Given the description of an element on the screen output the (x, y) to click on. 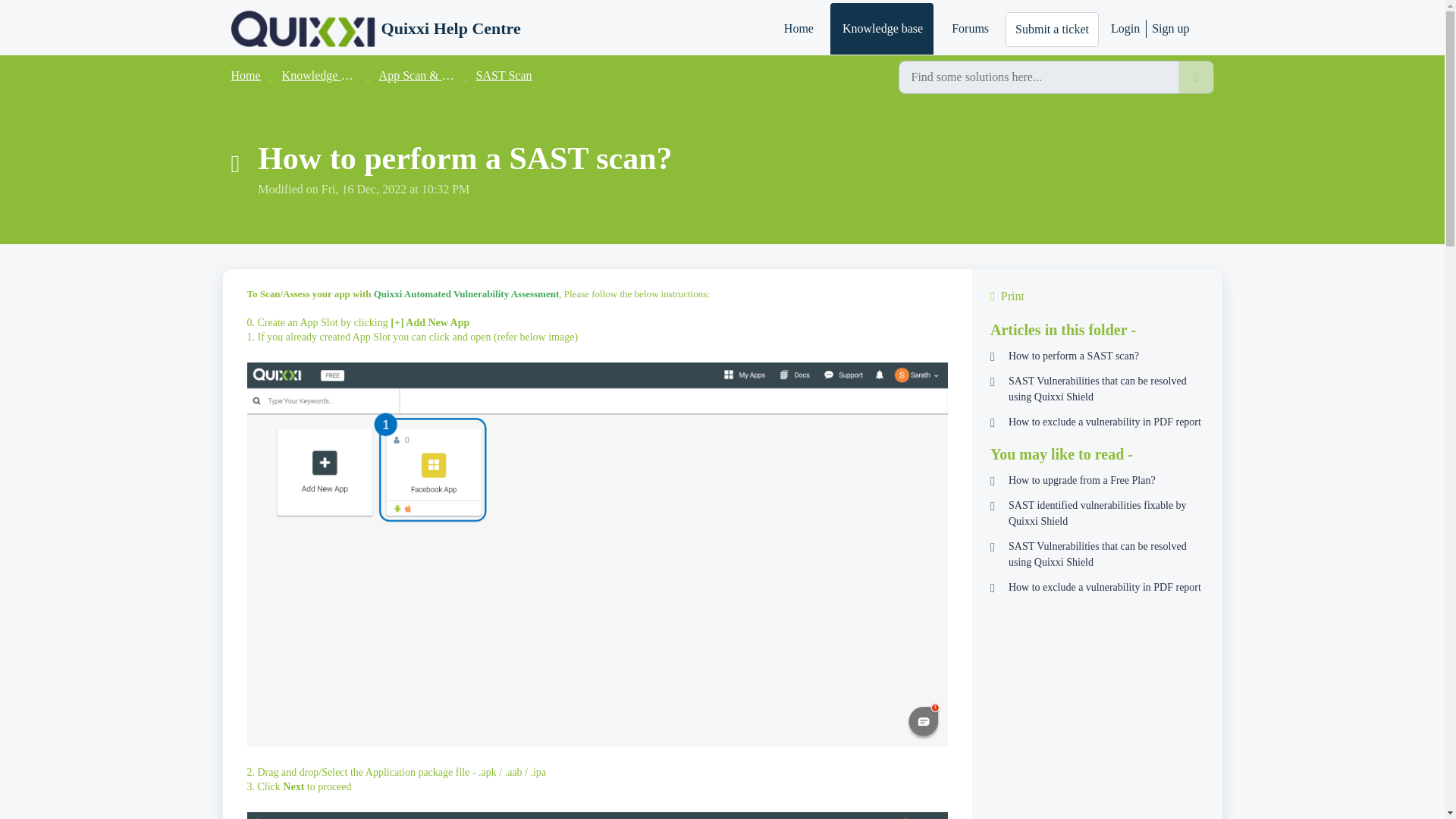
Knowledge base (881, 28)
How to perform a SAST scan? (1097, 355)
Quixxi Help Centre (451, 28)
SAST Scan (504, 74)
Quixxi Help Centre (374, 28)
Home (797, 28)
Knowledge base (322, 74)
Submit a ticket (1052, 29)
How to exclude a vulnerability in PDF report (1097, 587)
